Given the description of an element on the screen output the (x, y) to click on. 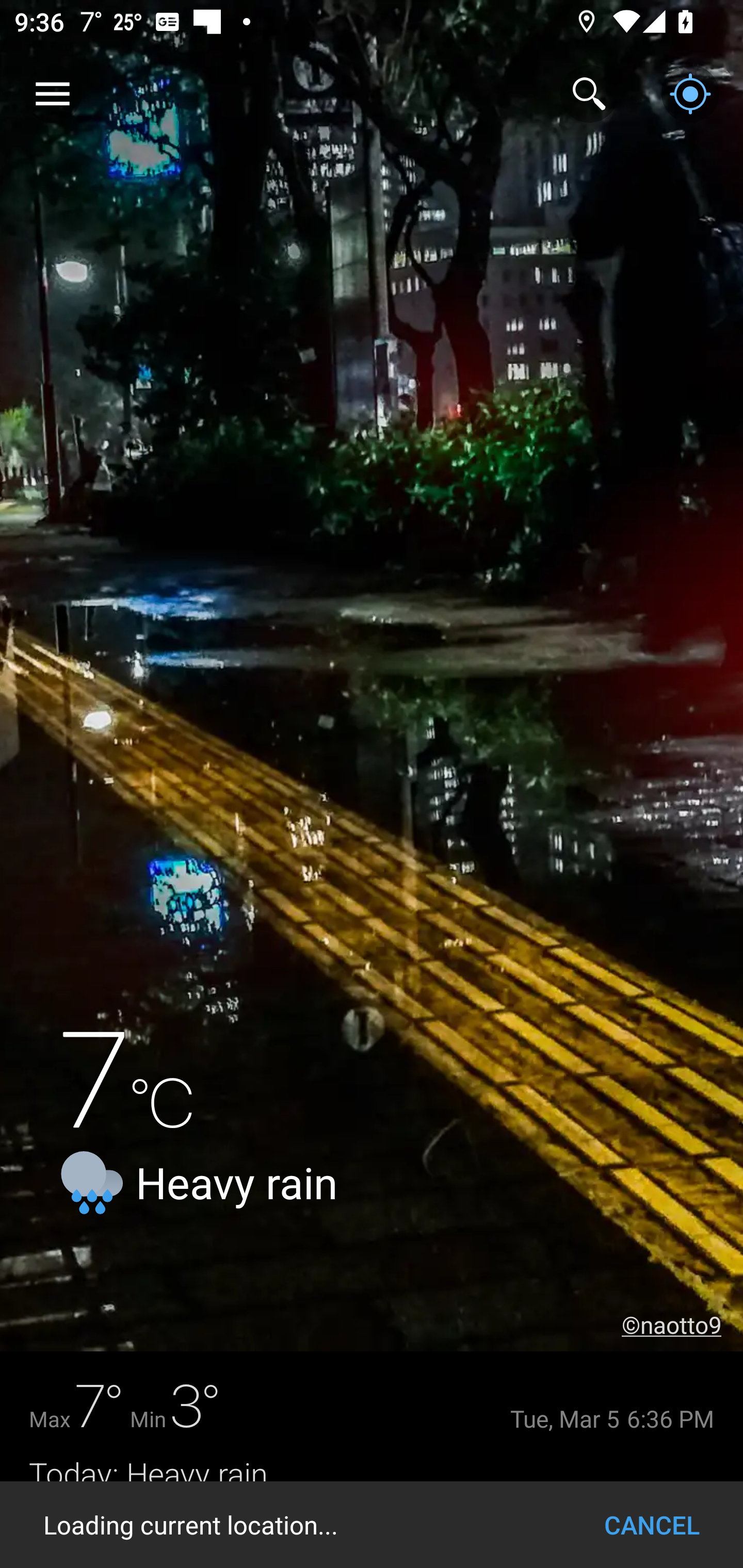
©naotto9 (682, 1324)
Loading current location... CANCEL (371, 1524)
CANCEL (651, 1524)
